Given the description of an element on the screen output the (x, y) to click on. 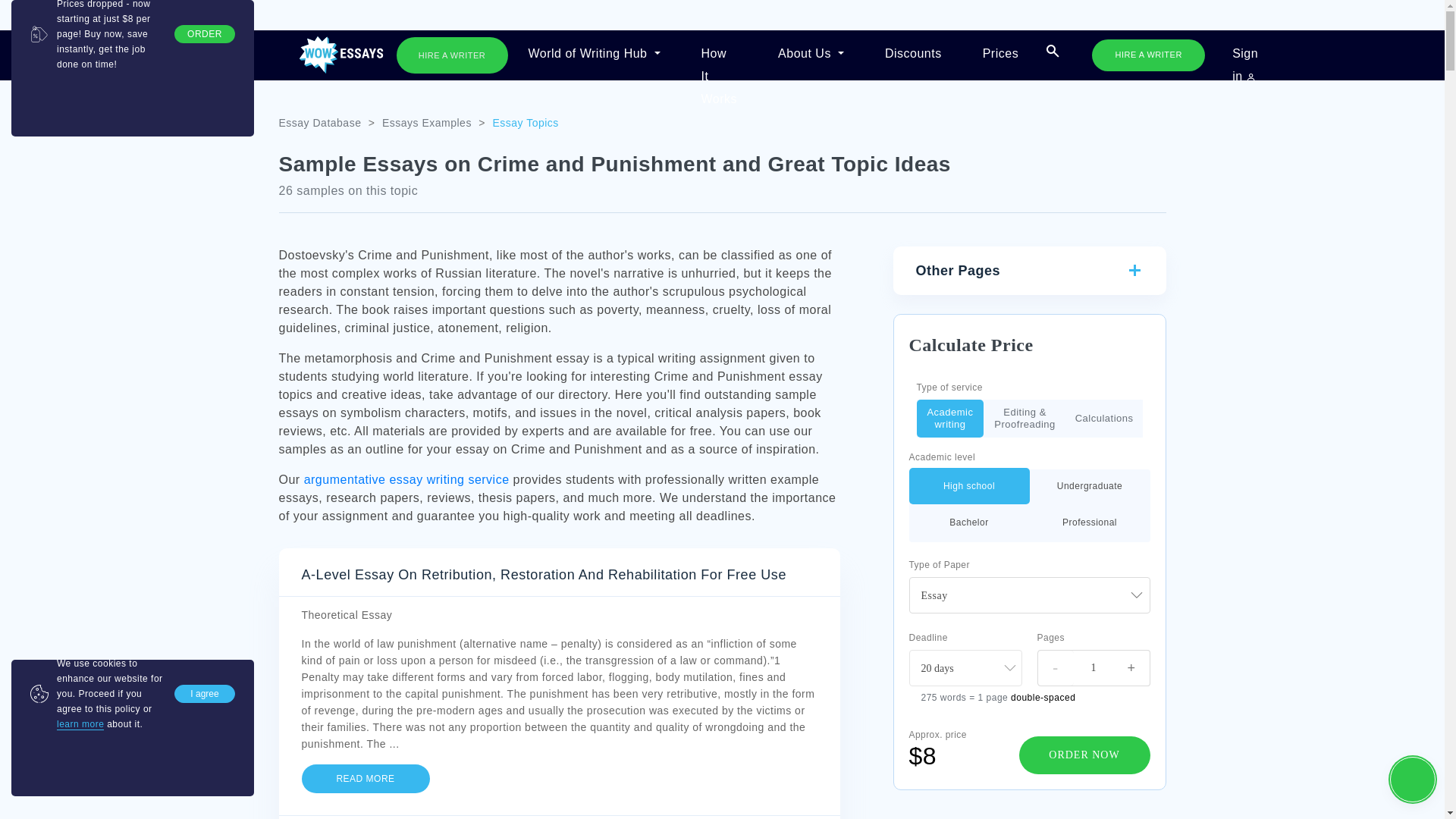
I agree (204, 693)
1 (929, 419)
Essay Database (320, 122)
learn more (79, 724)
2 (996, 419)
READ MORE (365, 778)
Essays Examples (426, 122)
Essay Topics (524, 122)
Prices (1000, 55)
Essay Topics (524, 122)
World of Writing Hub (592, 55)
3 (1079, 419)
How It Works (719, 55)
ORDER (204, 34)
